Given the description of an element on the screen output the (x, y) to click on. 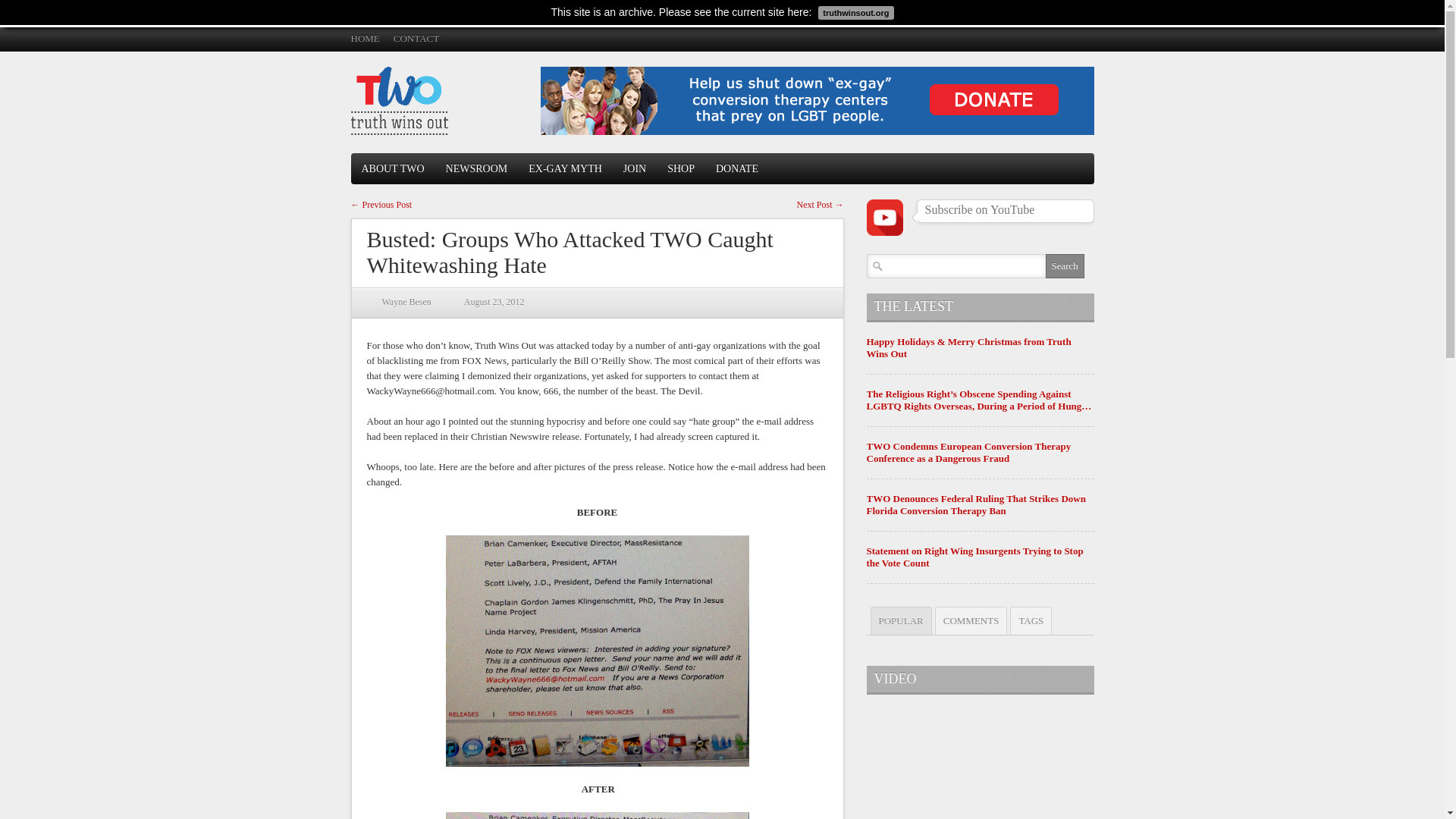
CONTACT (416, 38)
Search (1064, 265)
Posts by Wayne Besen (405, 301)
EX-GAY MYTH (565, 168)
Wayne Besen (405, 301)
Screen new (597, 815)
HOME (364, 38)
truthwinsout.org (853, 11)
Search (1064, 265)
DONATE (736, 168)
ABOUT TWO (391, 168)
NEWSROOM (476, 168)
JOIN (634, 168)
SHOP (680, 168)
Screen Shot old (597, 650)
